Given the description of an element on the screen output the (x, y) to click on. 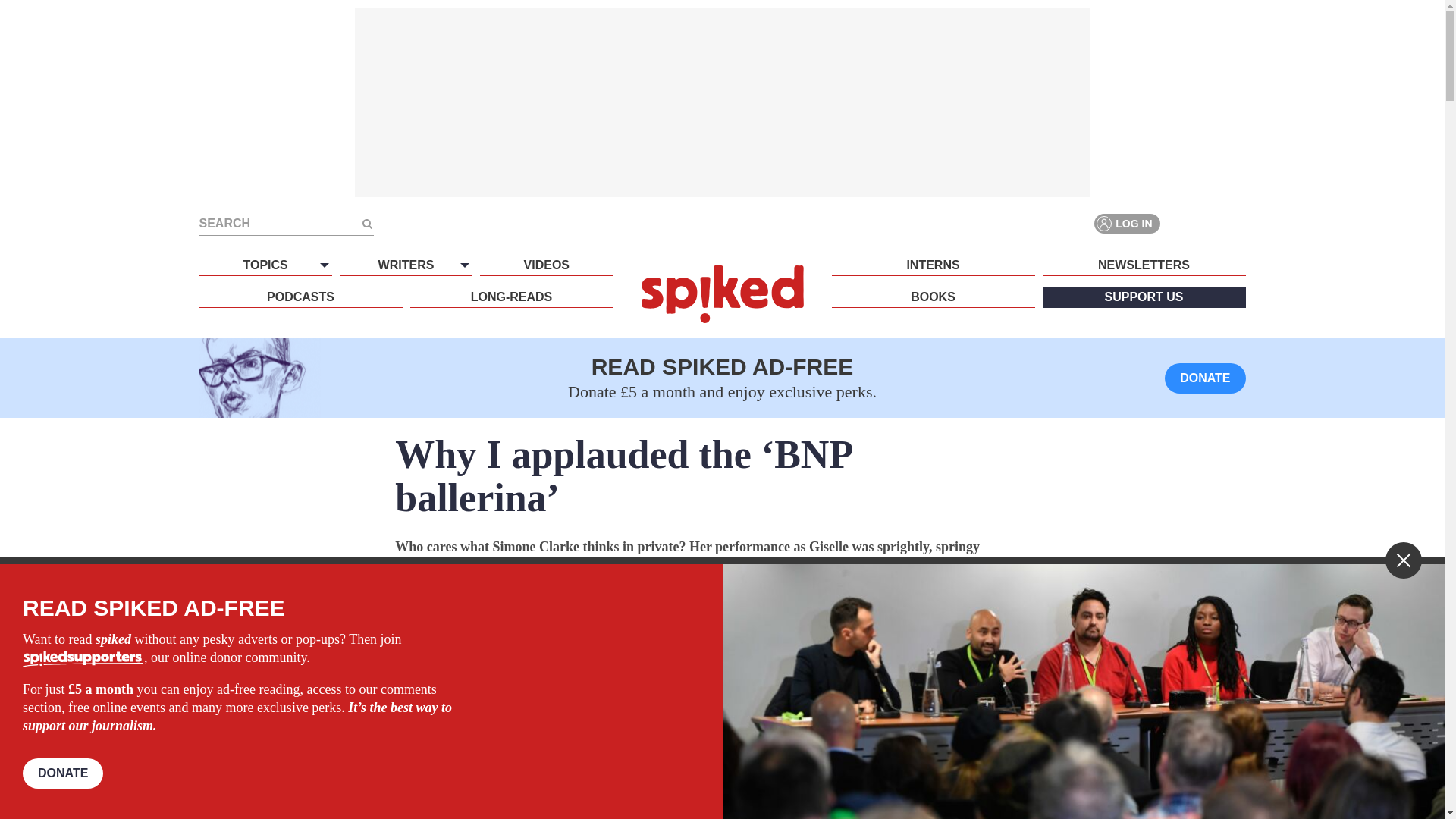
INTERNS (932, 265)
TOPICS (264, 265)
PODCASTS (299, 296)
WRITERS (405, 265)
VIDEOS (546, 265)
SUPPORT US (1143, 296)
YouTube (1234, 223)
LOG IN (1126, 223)
Twitter (1207, 223)
BOOKS (932, 296)
Facebook (1180, 223)
LONG-READS (510, 296)
spiked - humanity is underrated (722, 293)
NEWSLETTERS (1143, 265)
